Given the description of an element on the screen output the (x, y) to click on. 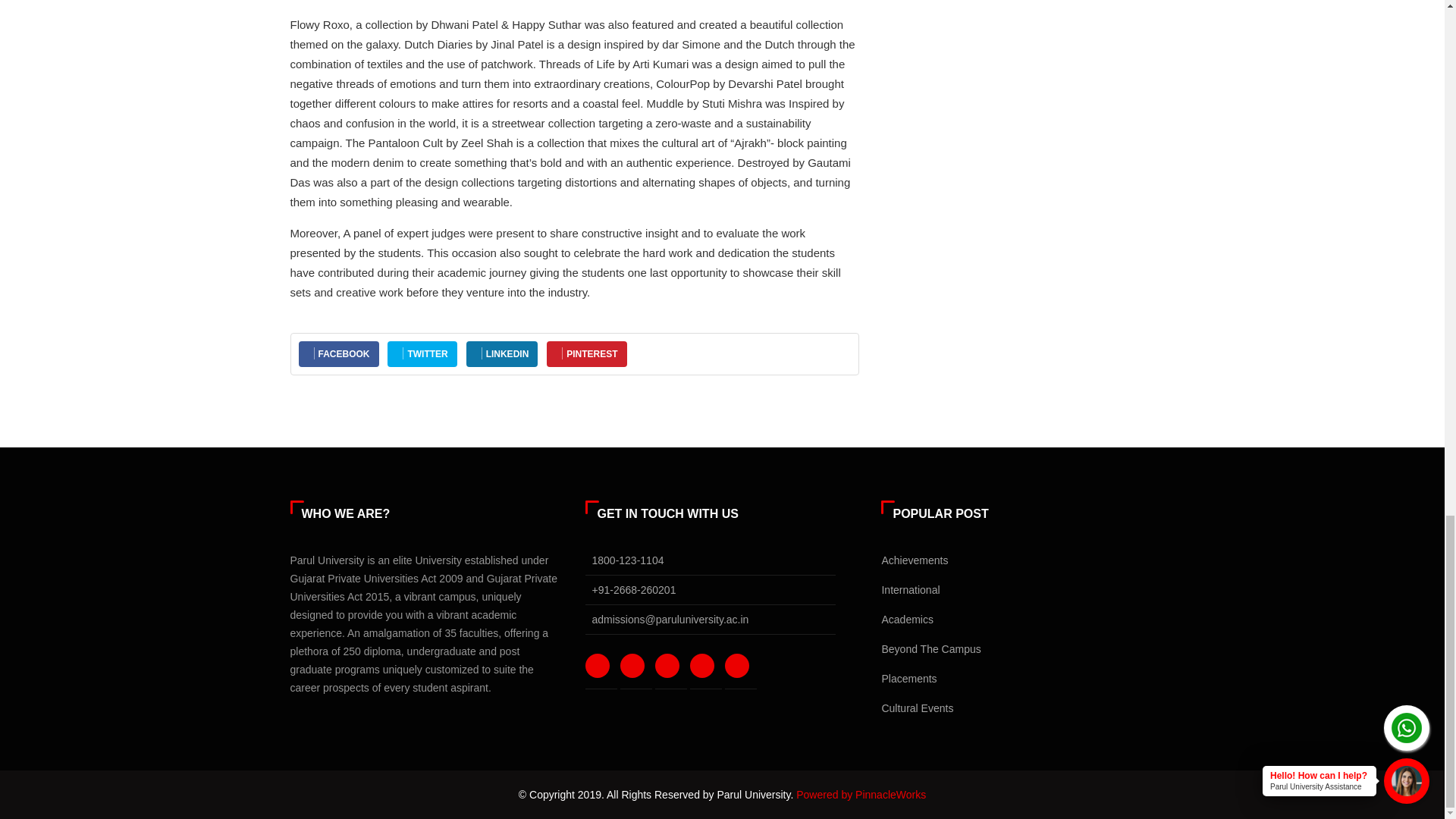
Twitter (635, 665)
Tweet (421, 353)
LINKEDIN (502, 353)
Share on LinkedIn (502, 353)
Pin it (586, 353)
TWITTER (421, 353)
FACEBOOK (338, 353)
Facebook (600, 665)
PINTEREST (586, 353)
Skype (670, 665)
1800-123-1104 (627, 560)
Linkdin (740, 665)
Share on Facebook (338, 353)
